Given the description of an element on the screen output the (x, y) to click on. 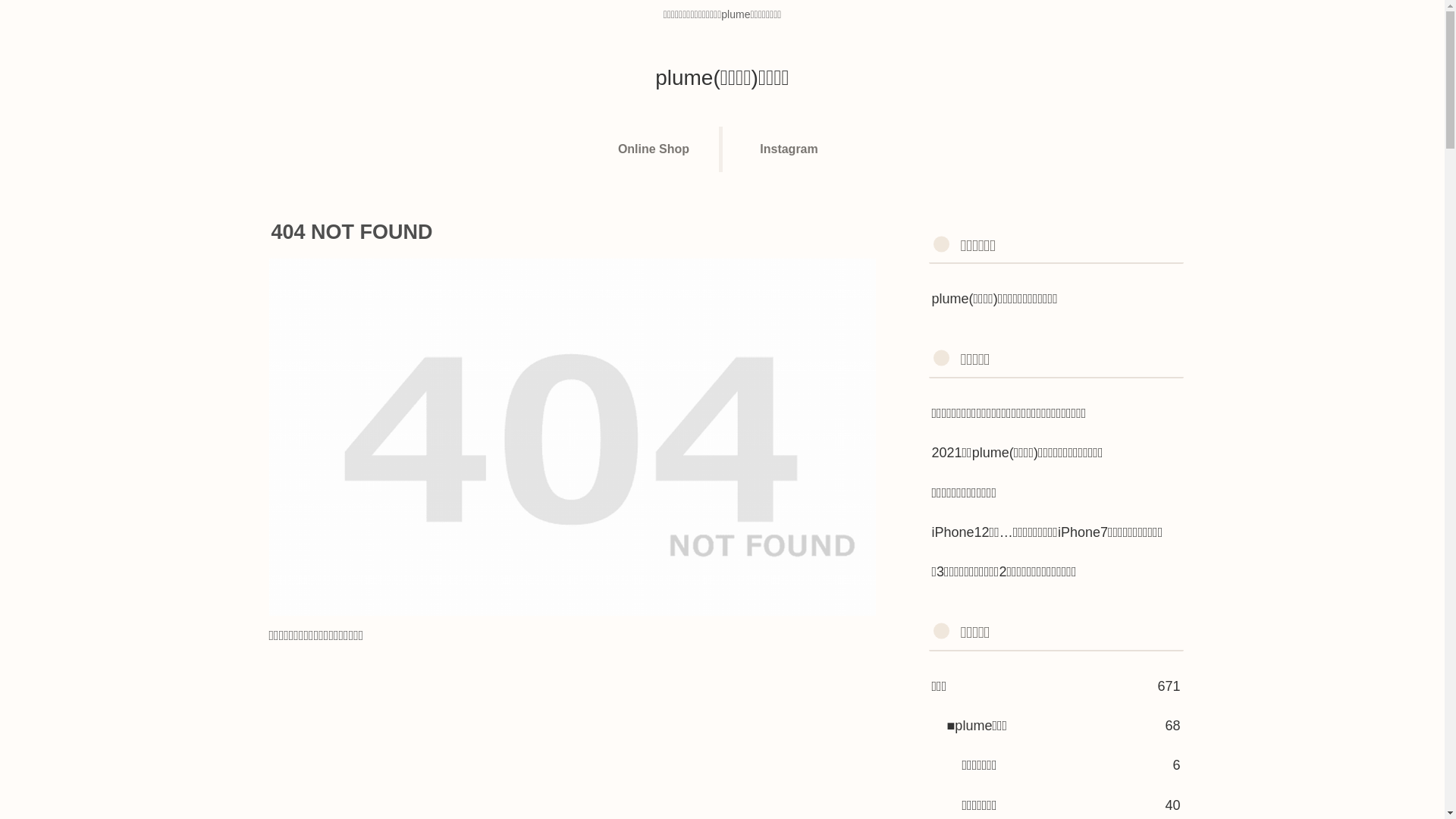
Online Shop Element type: text (654, 149)
Instagram Element type: text (788, 149)
